Given the description of an element on the screen output the (x, y) to click on. 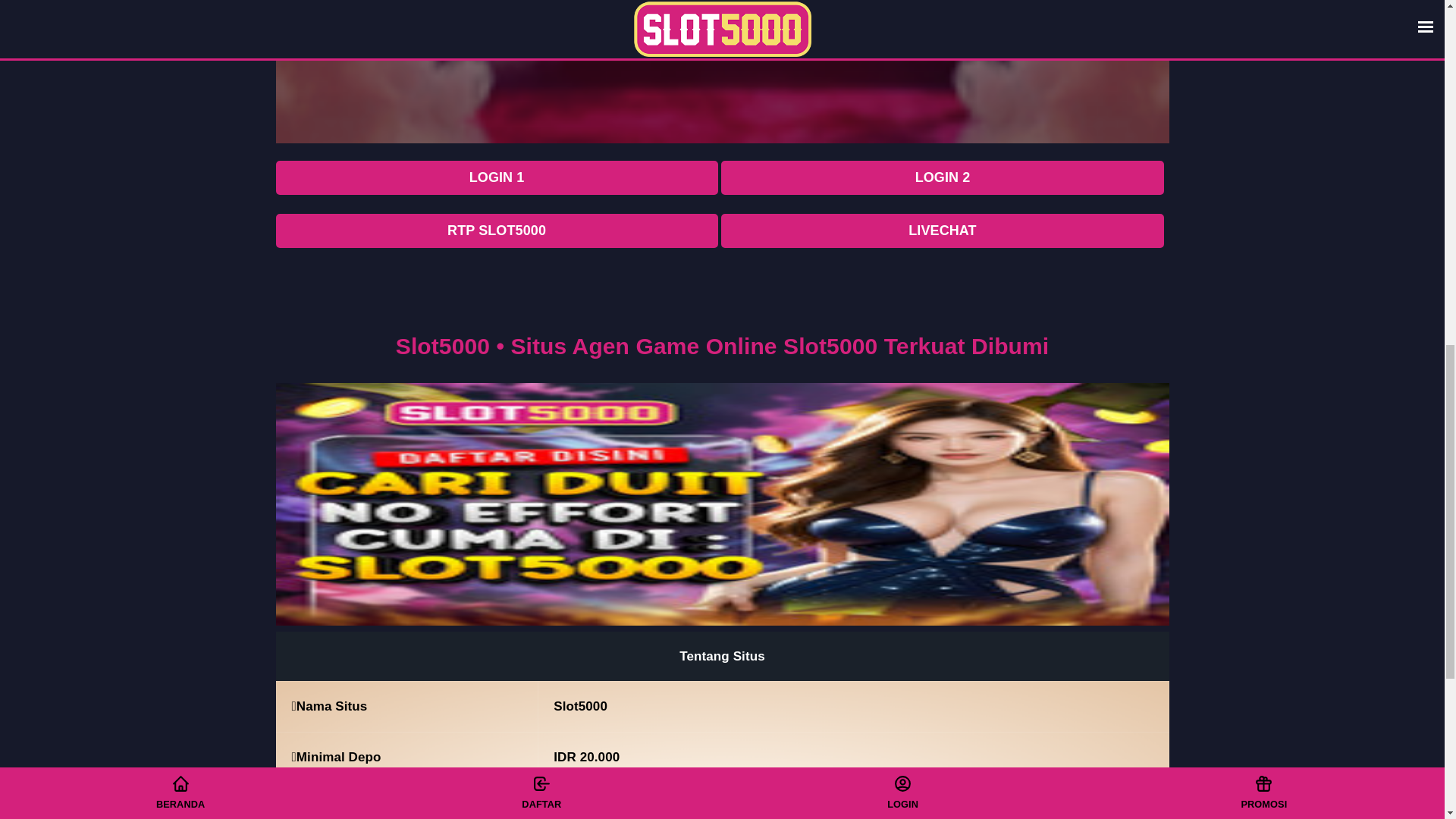
LIVECHAT (941, 230)
LOGIN 1 (496, 177)
RTP SLOT5000 (496, 230)
LOGIN 2 (941, 177)
